Given the description of an element on the screen output the (x, y) to click on. 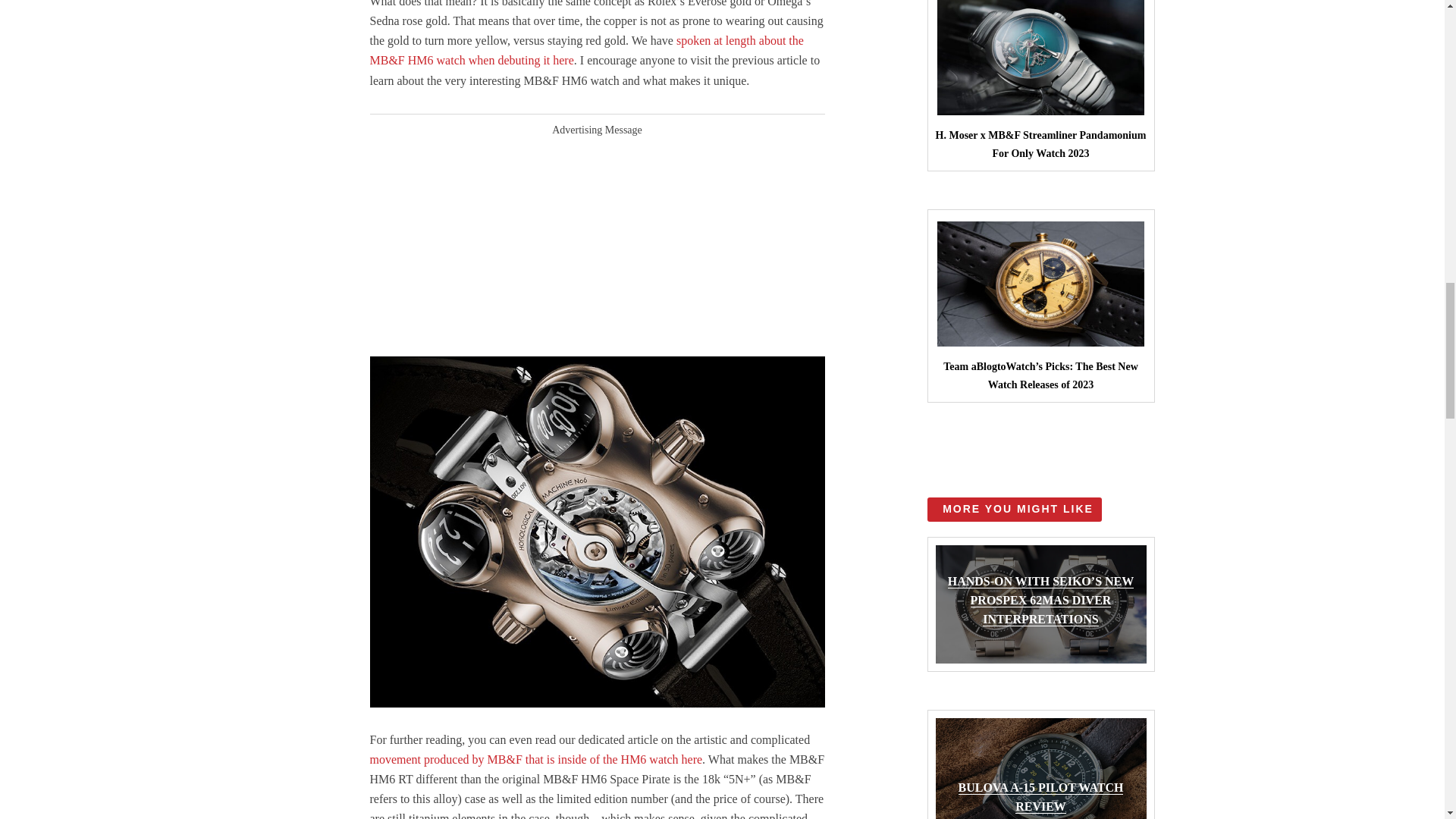
3rd party ad content (597, 240)
